Given the description of an element on the screen output the (x, y) to click on. 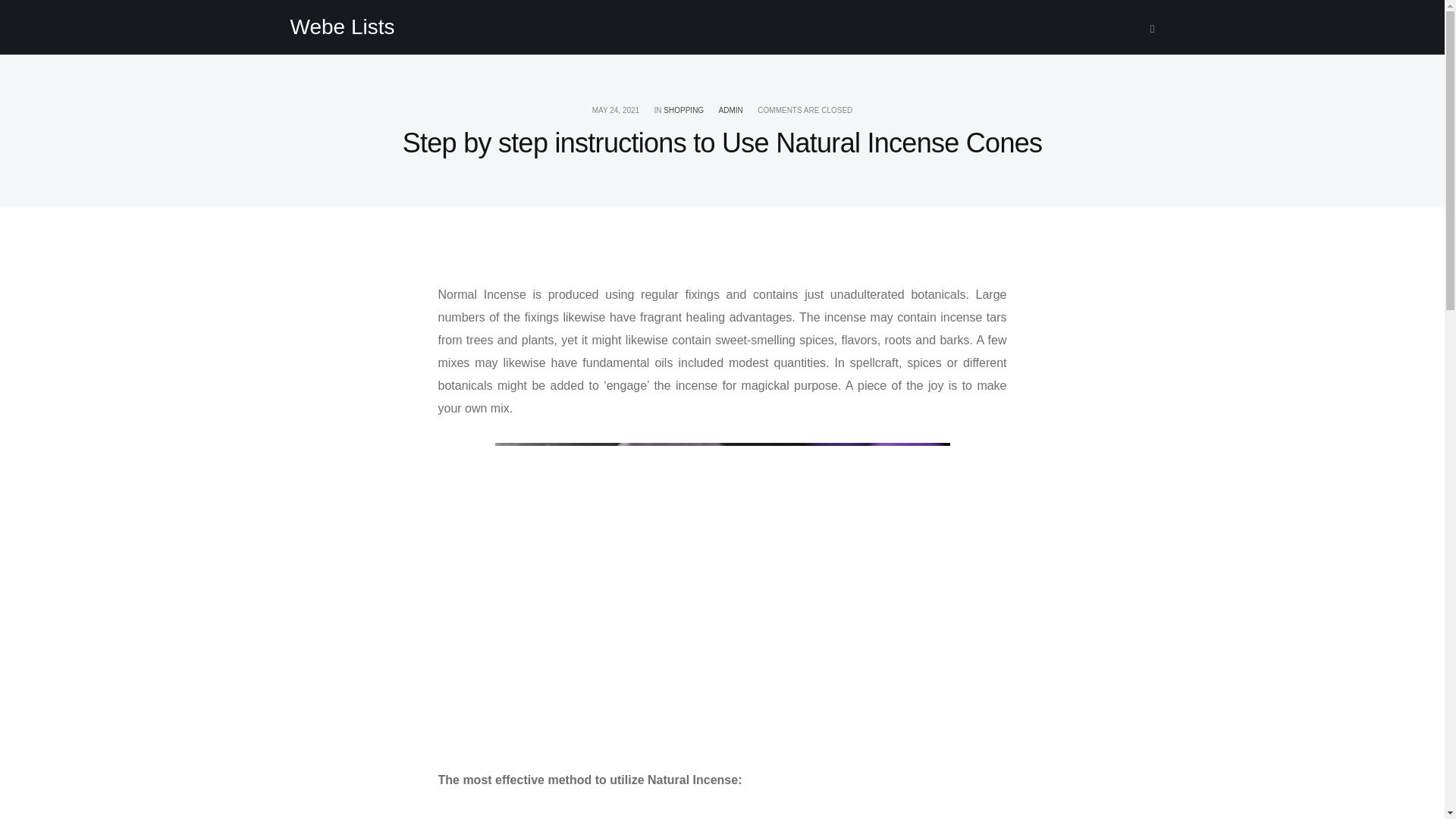
SHOPPING (683, 110)
ADMIN (730, 110)
Webe Lists (341, 27)
Posts by admin (730, 110)
